Given the description of an element on the screen output the (x, y) to click on. 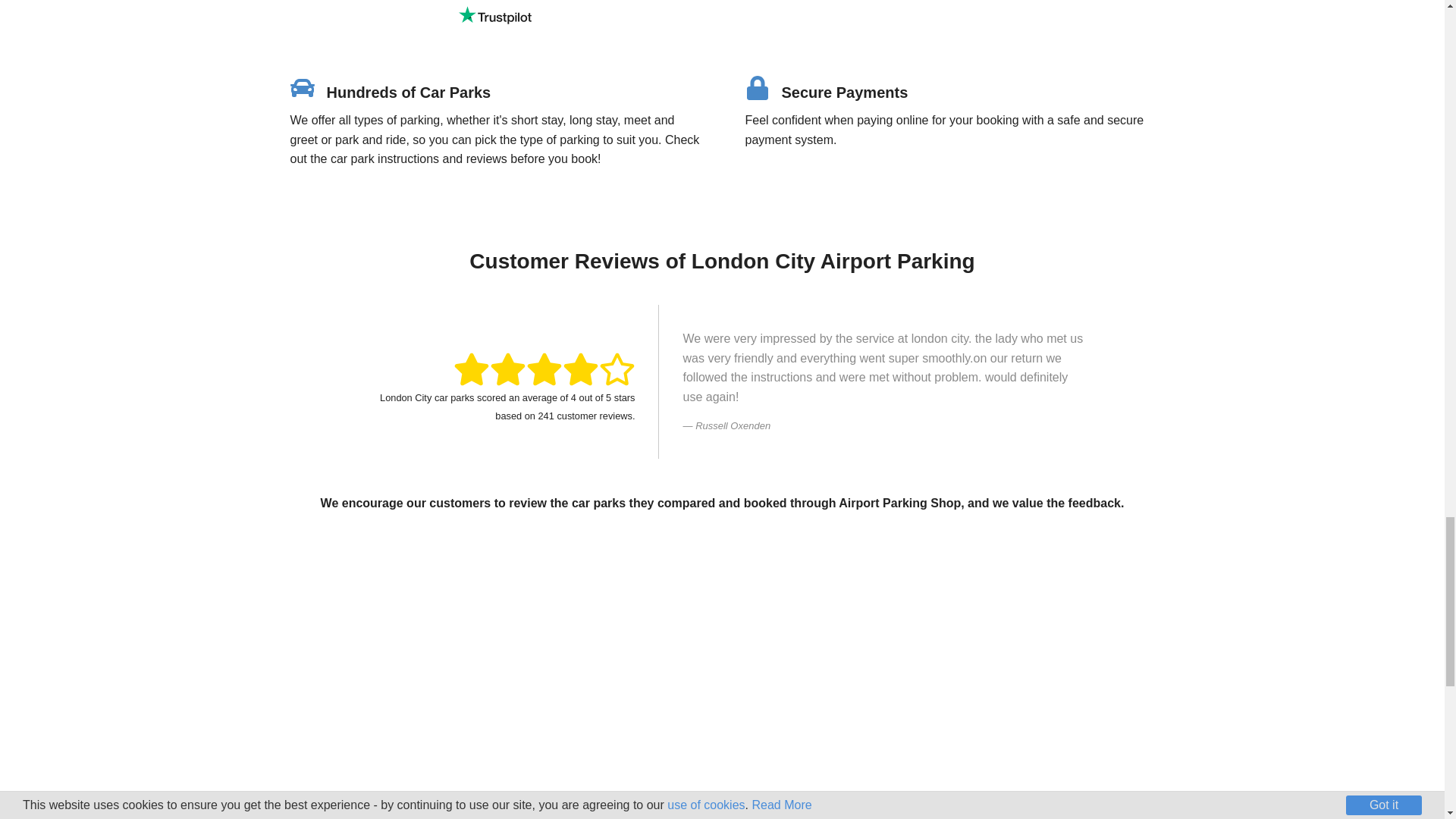
Find out more about Essential Travel (835, 665)
Customer reviews powered by Trustpilot (493, 14)
Find out more about FHR (1063, 665)
Find out more about APH (380, 665)
Find out more about BCP (608, 665)
